Given the description of an element on the screen output the (x, y) to click on. 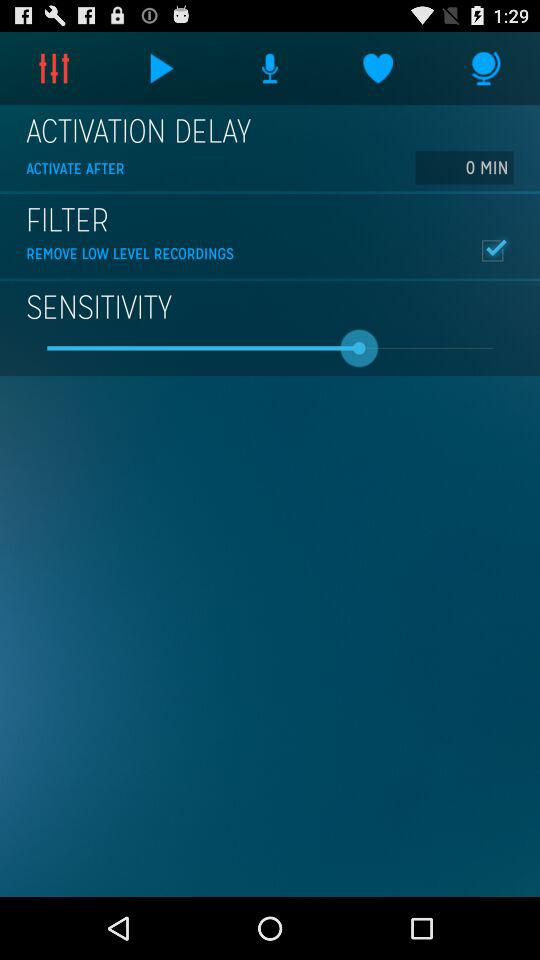
launch item above sensitivity icon (492, 250)
